Given the description of an element on the screen output the (x, y) to click on. 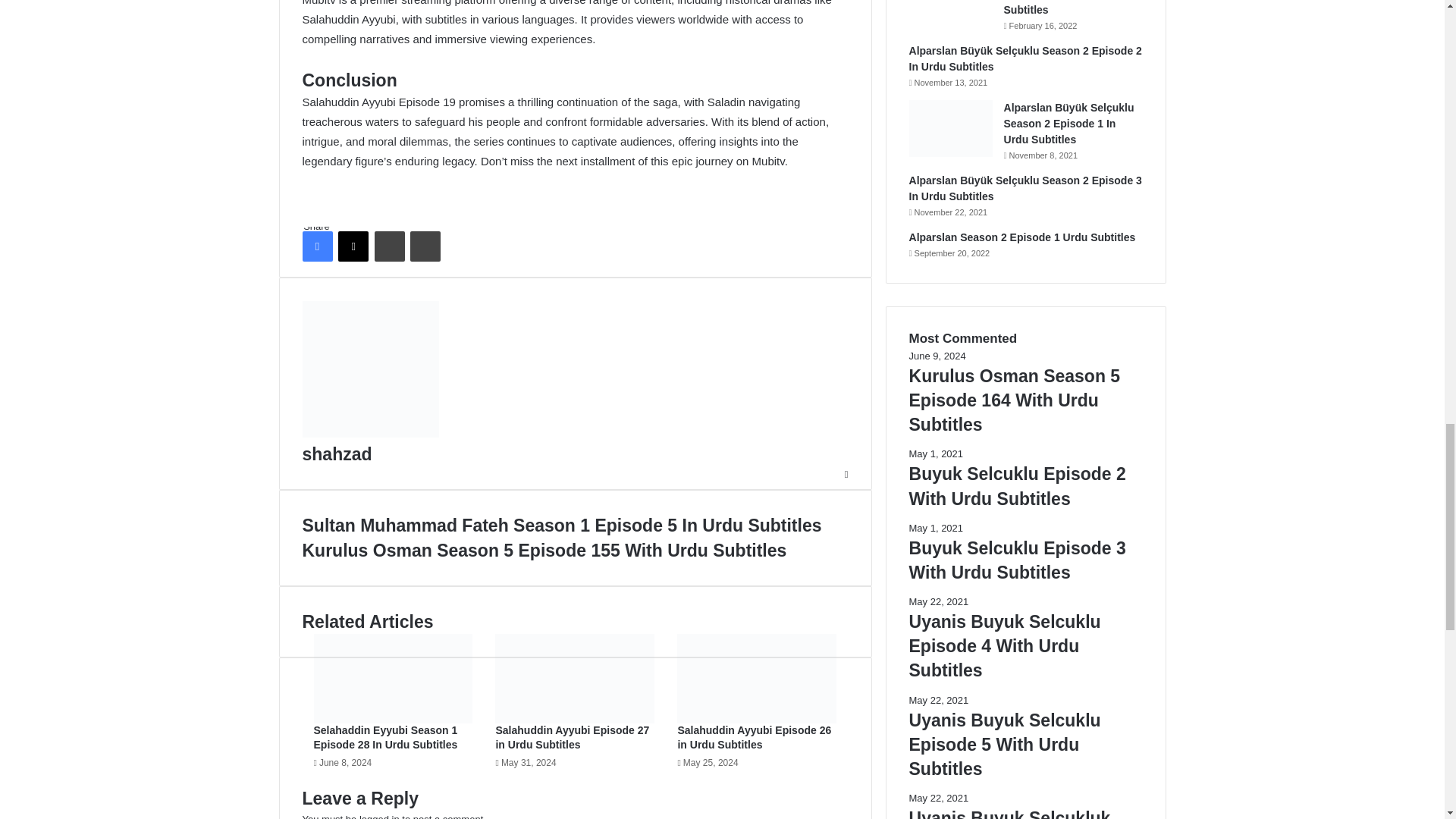
X (352, 245)
LinkedIn (389, 245)
Salahuddin Ayyubi Episode 27 in Urdu Subtitles (572, 737)
Facebook (316, 245)
Selahaddin Eyyubi Season 1 Episode 28 In Urdu Subtitles (386, 737)
LinkedIn (389, 245)
Pinterest (425, 245)
Facebook (316, 245)
Pinterest (425, 245)
Kurulus Osman Season 5 Episode 155 With Urdu Subtitles (574, 550)
logged in (378, 816)
Website (846, 473)
Sultan Muhammad Fateh Season 1 Episode 5 In Urdu Subtitles (574, 525)
X (352, 245)
shahzad (336, 454)
